Given the description of an element on the screen output the (x, y) to click on. 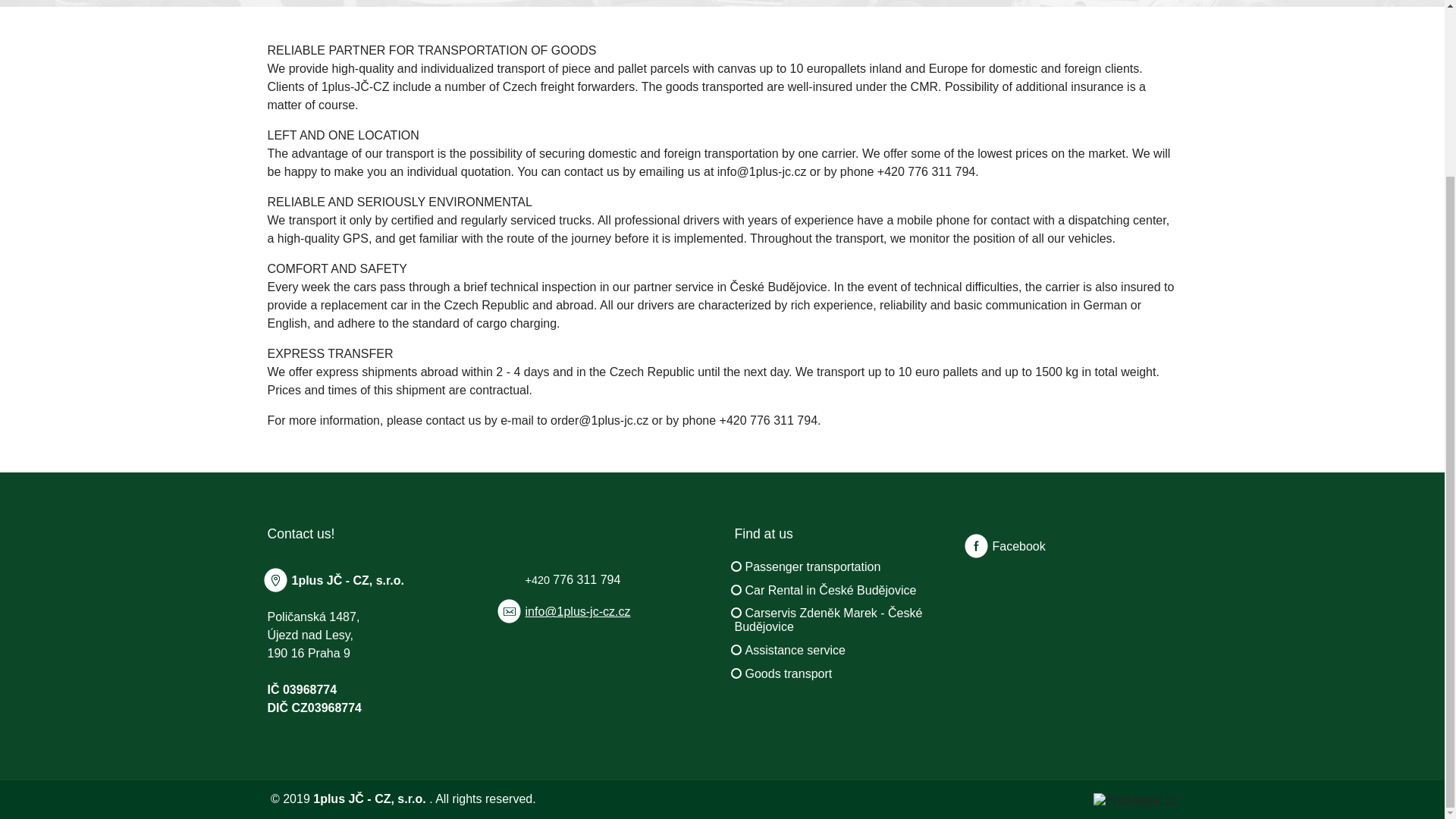
Goods transport (787, 673)
Passenger transportation (812, 566)
Assistance service (794, 649)
Facebook (1006, 545)
